Given the description of an element on the screen output the (x, y) to click on. 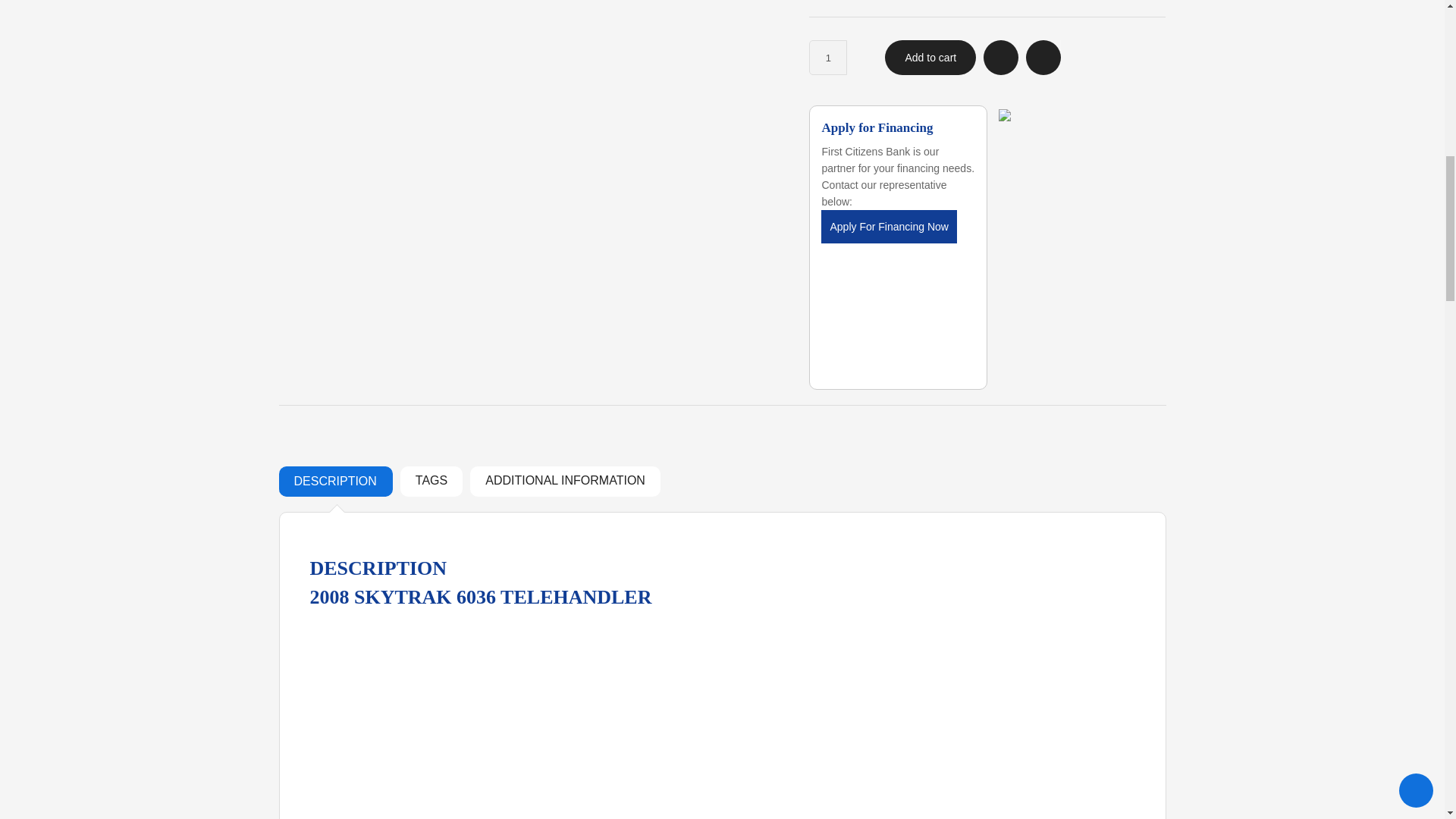
1 (828, 57)
Skytrack 6036 -1-updated (532, 40)
